Given the description of an element on the screen output the (x, y) to click on. 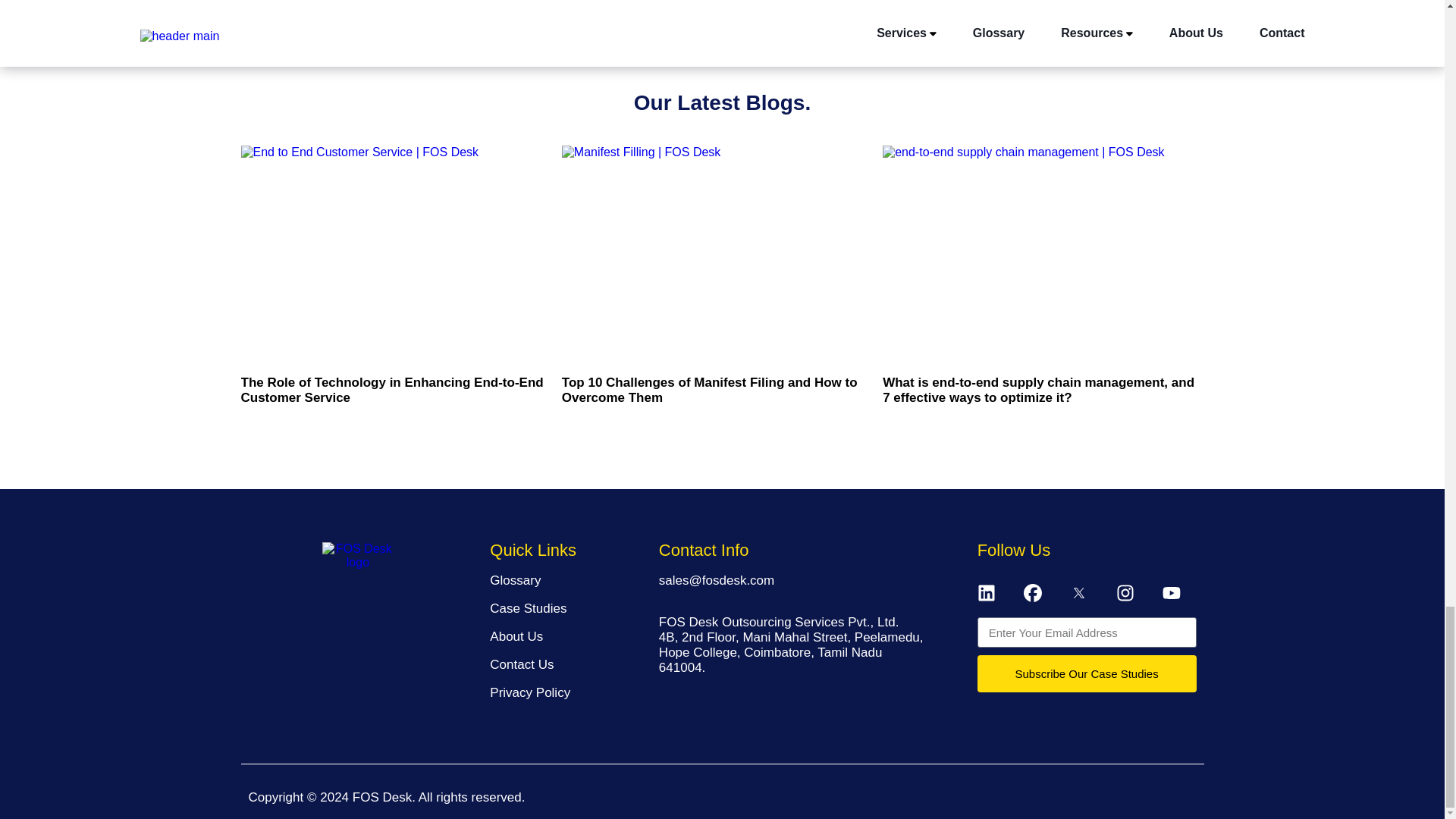
Privacy Policy (529, 692)
Glossary (514, 580)
Case Studies (527, 608)
About Us (516, 636)
Contact Us (521, 664)
